Given the description of an element on the screen output the (x, y) to click on. 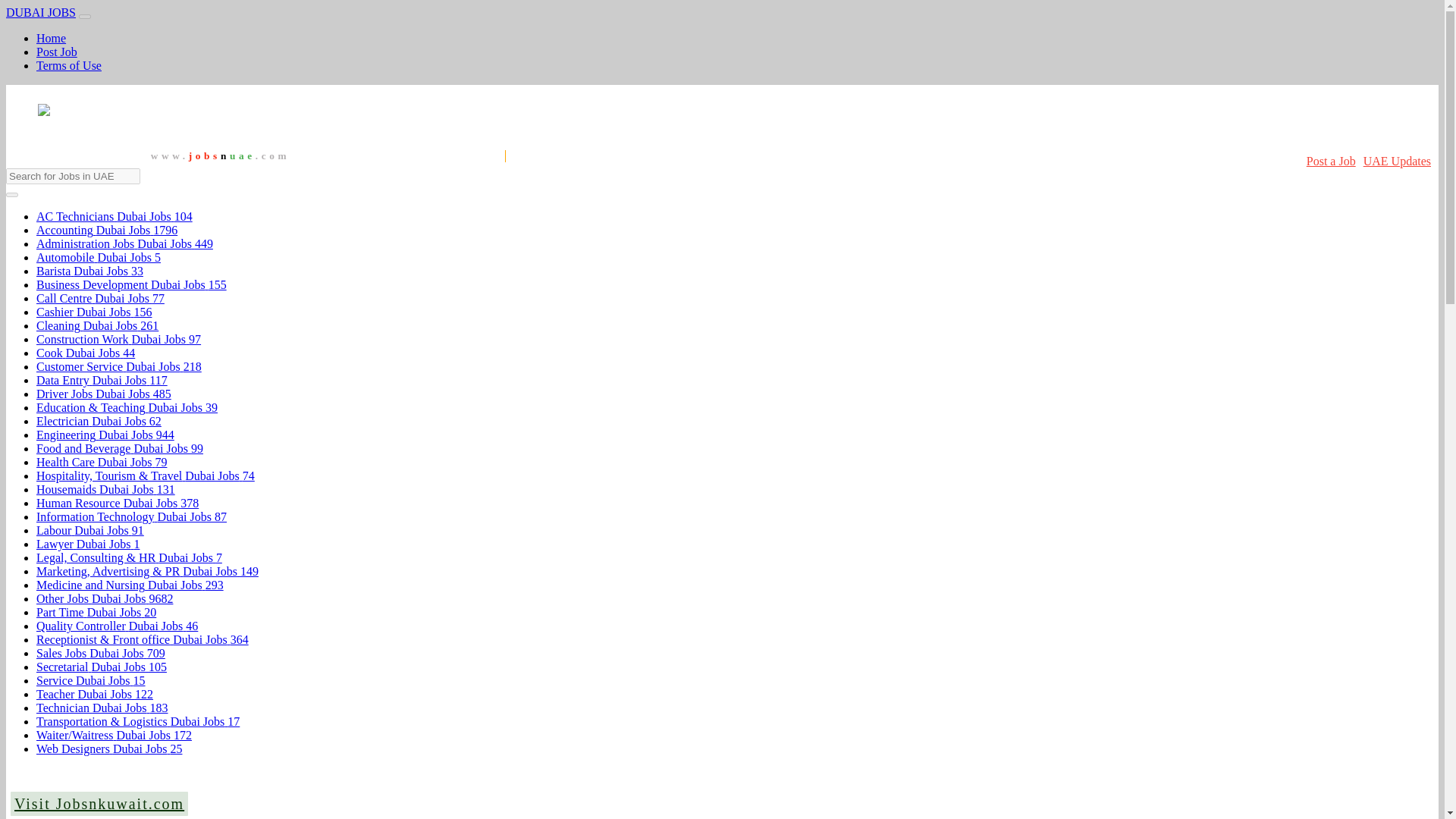
Medicine and Nursing Dubai Jobs 293 (130, 584)
Electrician Dubai Jobs 62 (98, 420)
Business Development Dubai Jobs 155 (131, 284)
Food and Beverage Dubai Jobs 99 (119, 448)
Other Jobs Dubai Jobs 9682 (104, 598)
Health Care Dubai Jobs 79 (101, 461)
DUBAI JOBS (40, 11)
Post Job (56, 51)
Construction Work Dubai Jobs 97 (118, 338)
Cleaning Dubai Jobs 261 (97, 325)
Barista Dubai Jobs 33 (89, 270)
Cashier Dubai Jobs 156 (93, 311)
Human Resource Dubai Jobs 378 (117, 502)
Engineering Dubai Jobs 944 (105, 434)
Call Centre Dubai Jobs 77 (100, 297)
